Given the description of an element on the screen output the (x, y) to click on. 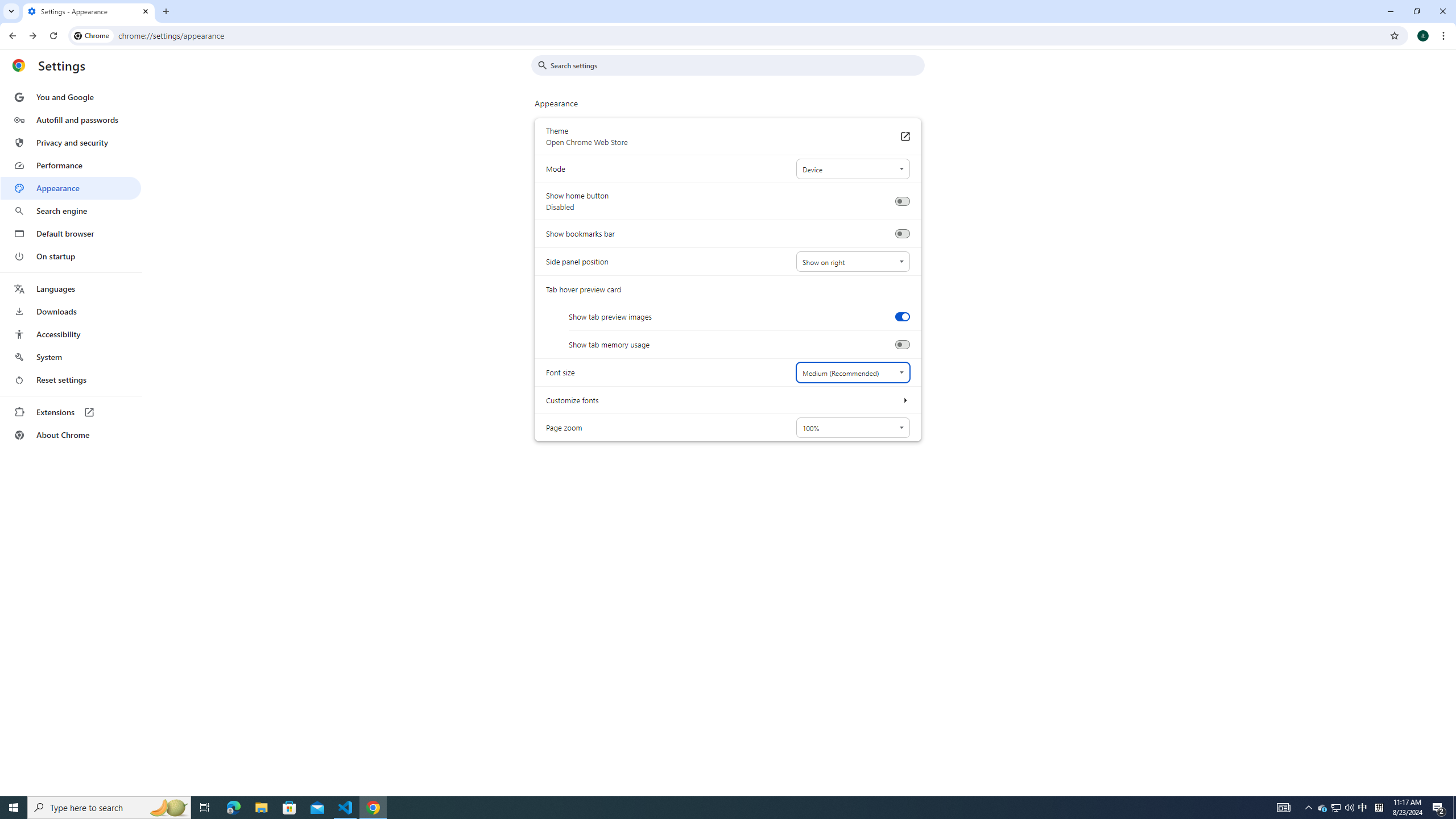
Privacy and security (70, 142)
On startup (70, 255)
AutomationID: menu (71, 265)
Show tab preview images (901, 316)
Performance (70, 164)
Page zoom (852, 427)
About Chrome (70, 434)
Downloads (70, 311)
